Given the description of an element on the screen output the (x, y) to click on. 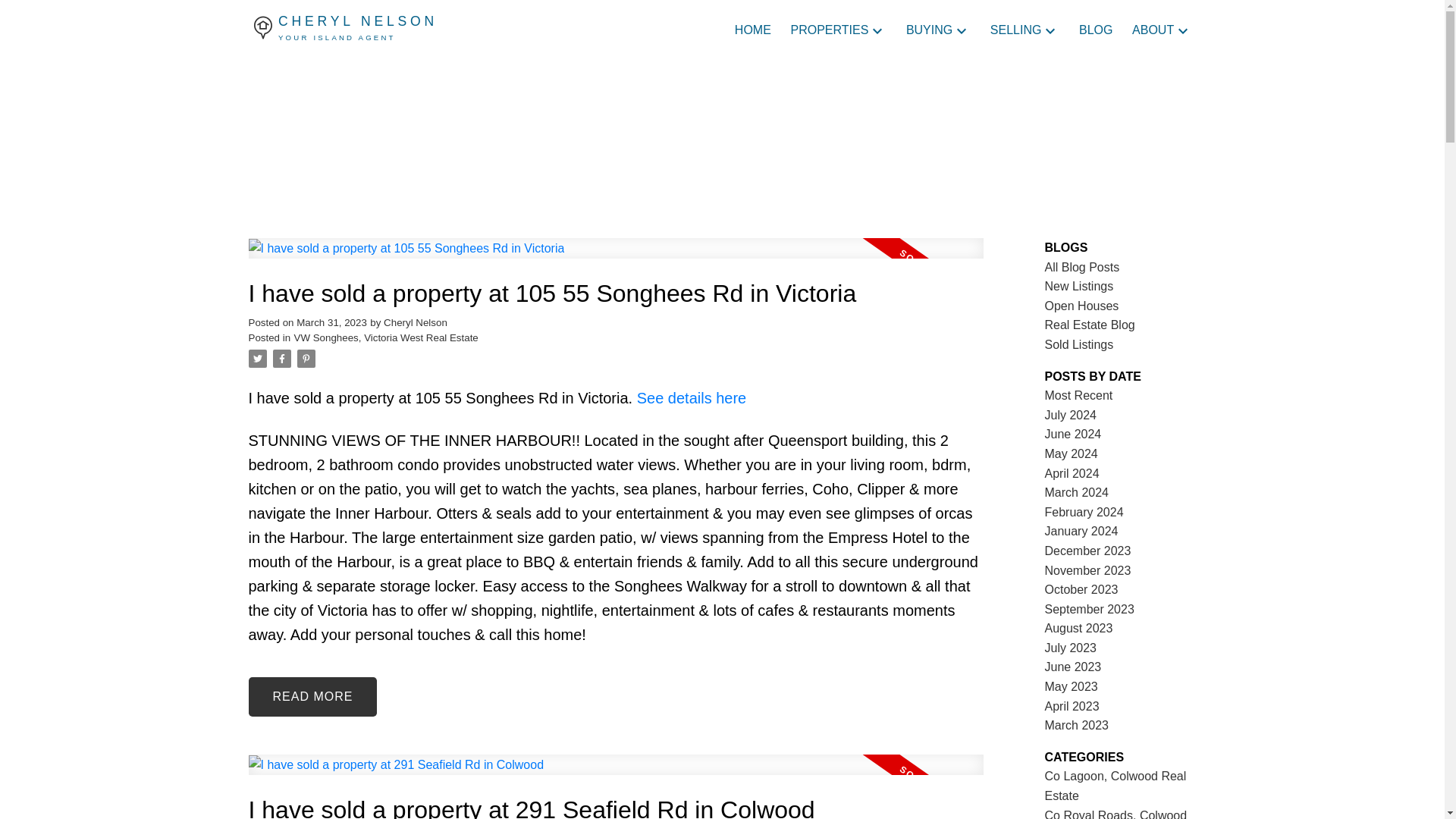
BUYING (928, 30)
PROPERTIES (828, 30)
BLOG (1095, 30)
SELLING (1016, 30)
Read full post (616, 773)
Read full post (374, 30)
HOME (616, 257)
ABOUT (753, 30)
